Given the description of an element on the screen output the (x, y) to click on. 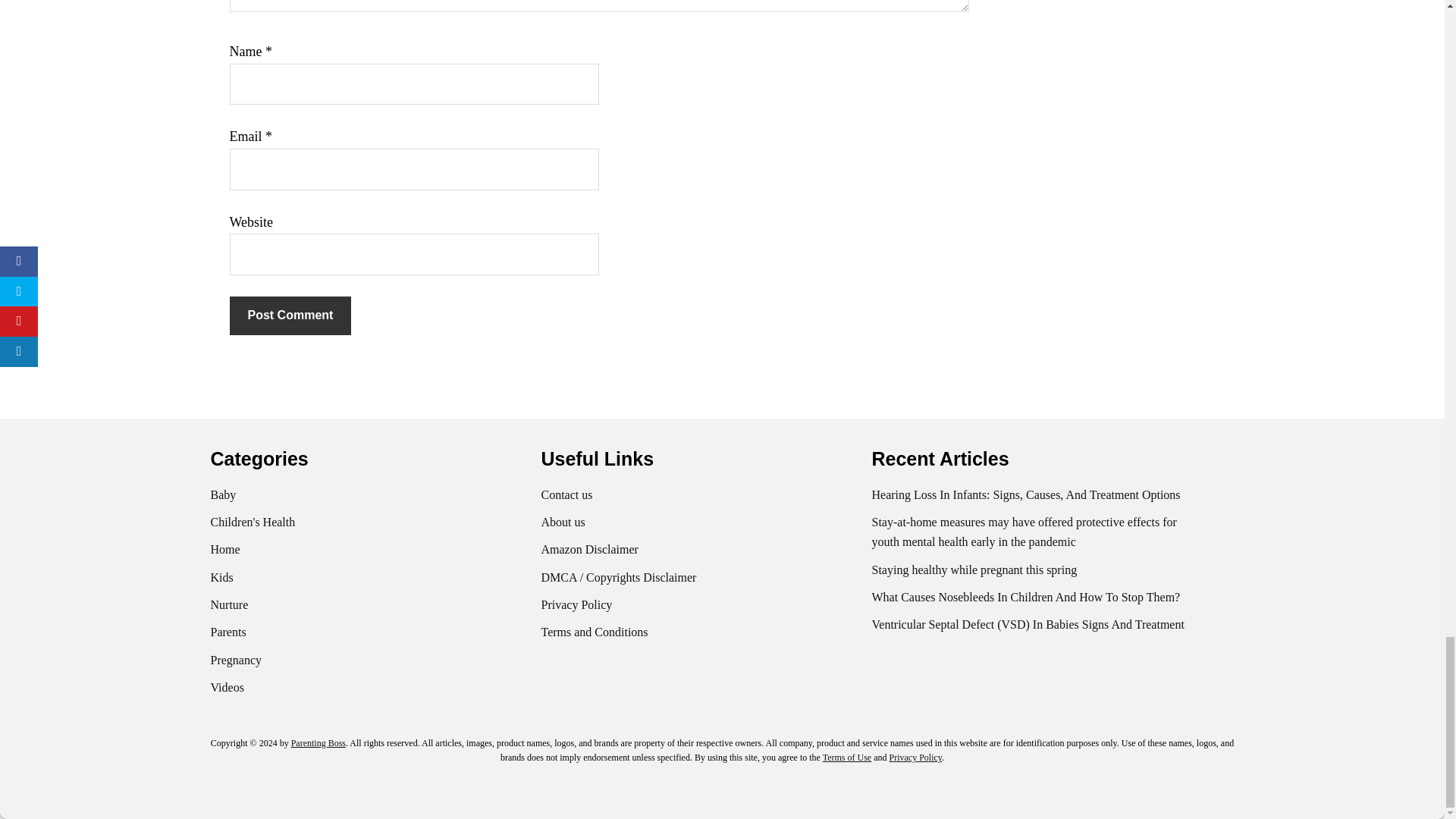
Post Comment (289, 315)
